Given the description of an element on the screen output the (x, y) to click on. 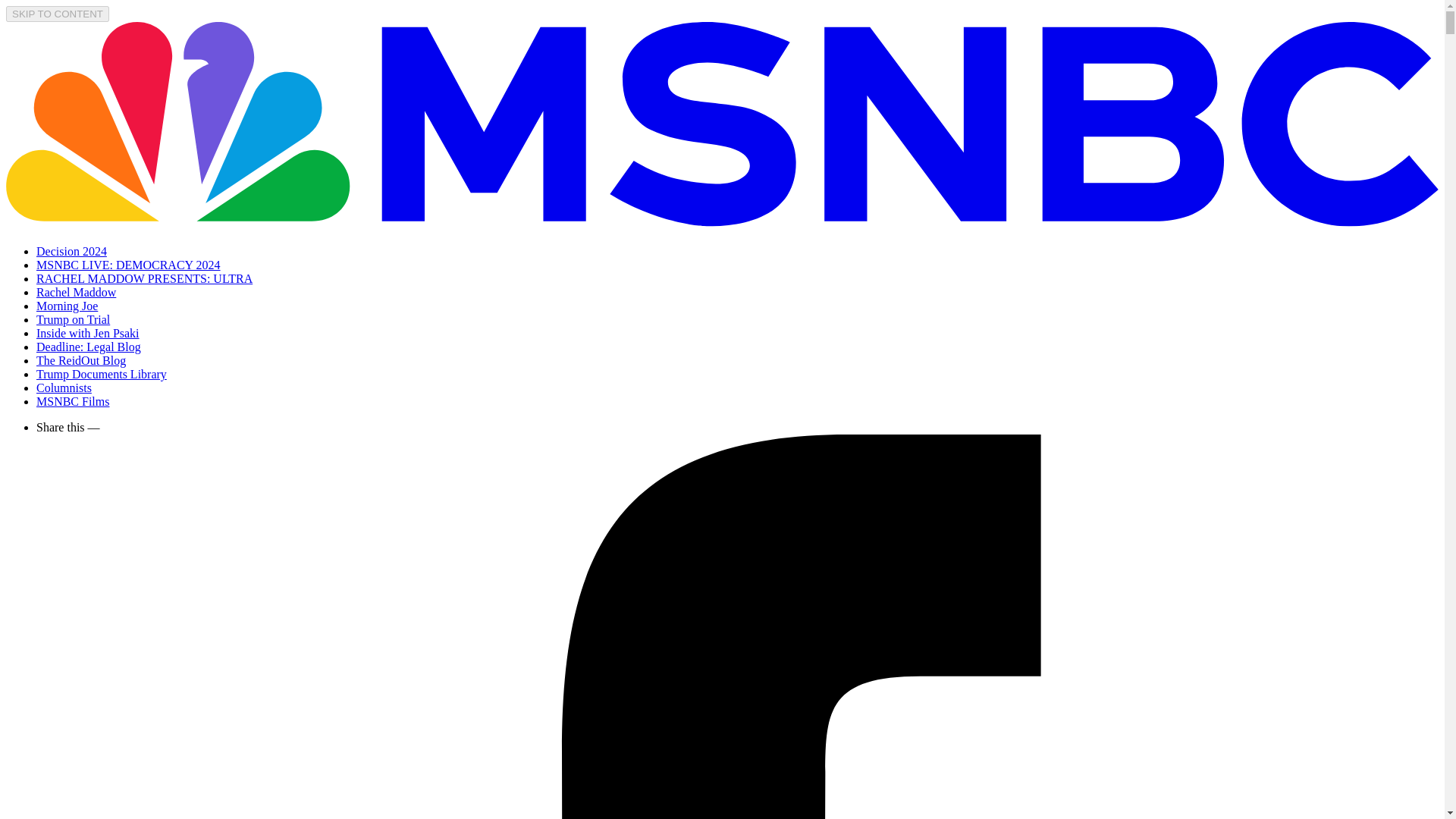
Trump on Trial (73, 318)
Columnists (63, 387)
Trump Documents Library (101, 373)
Deadline: Legal Blog (88, 346)
RACHEL MADDOW PRESENTS: ULTRA (143, 278)
Decision 2024 (71, 250)
Rachel Maddow (76, 291)
The ReidOut Blog (80, 359)
Morning Joe (66, 305)
SKIP TO CONTENT (57, 13)
